Given the description of an element on the screen output the (x, y) to click on. 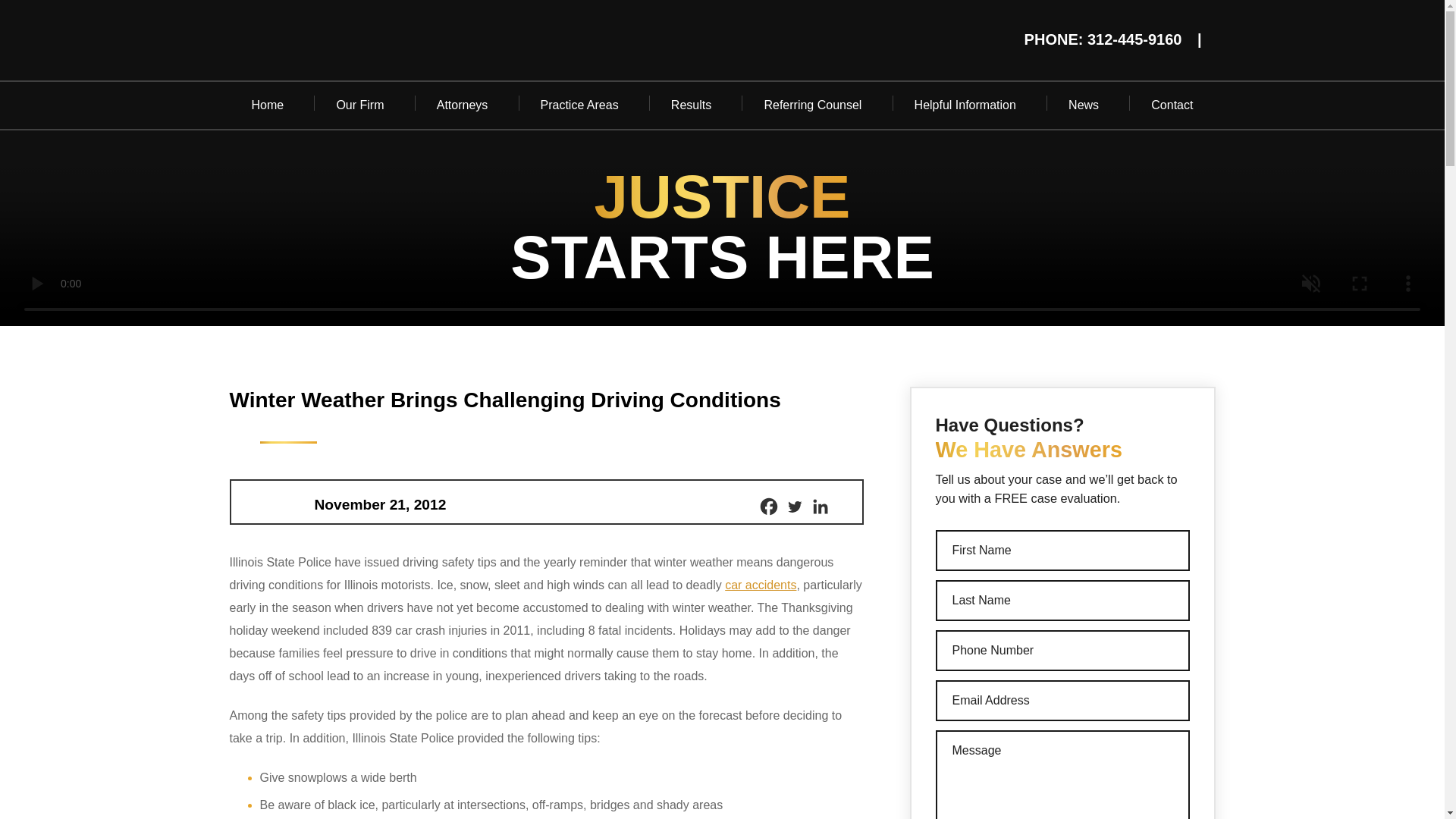
car accidents (760, 584)
News (1083, 105)
Helpful Information (965, 105)
Practice Areas (579, 105)
Facebook (767, 506)
Attorneys (462, 105)
Twitter (794, 506)
Results (691, 105)
Our Firm (360, 105)
Referring Counsel (812, 105)
Linkedin (819, 506)
Home (266, 105)
Contact (1171, 105)
312-445-9160 (1134, 39)
